Given the description of an element on the screen output the (x, y) to click on. 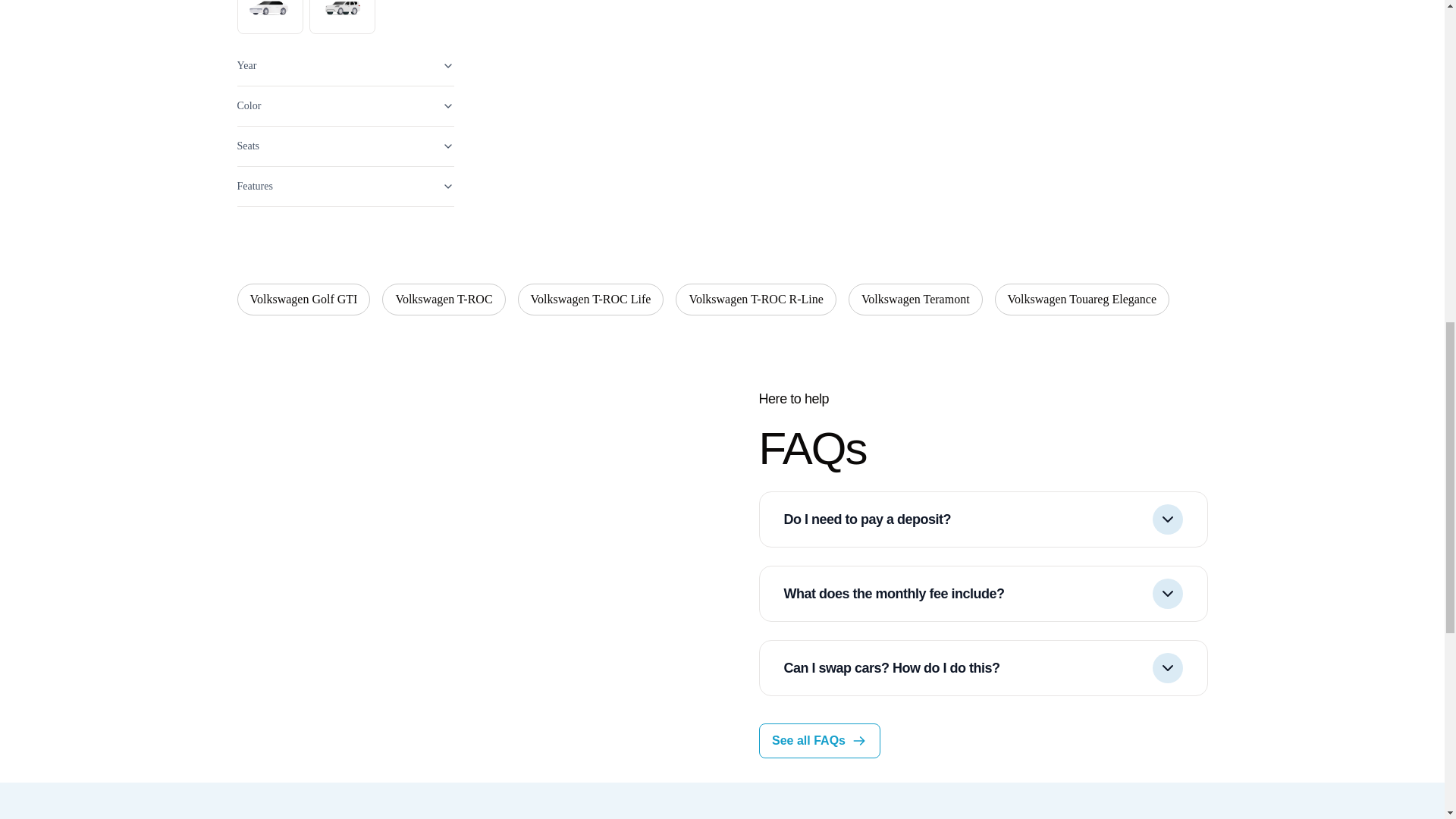
Volkswagen T-ROC R-Line (755, 299)
Driver License Policies (343, 227)
SUV (341, 16)
Seats (343, 146)
Volkswagen T-ROC (443, 299)
Volkswagen Golf GTI (302, 299)
Volkswagen T-ROC Life (590, 299)
Sedan (268, 16)
Color (343, 106)
Features (343, 187)
